Given the description of an element on the screen output the (x, y) to click on. 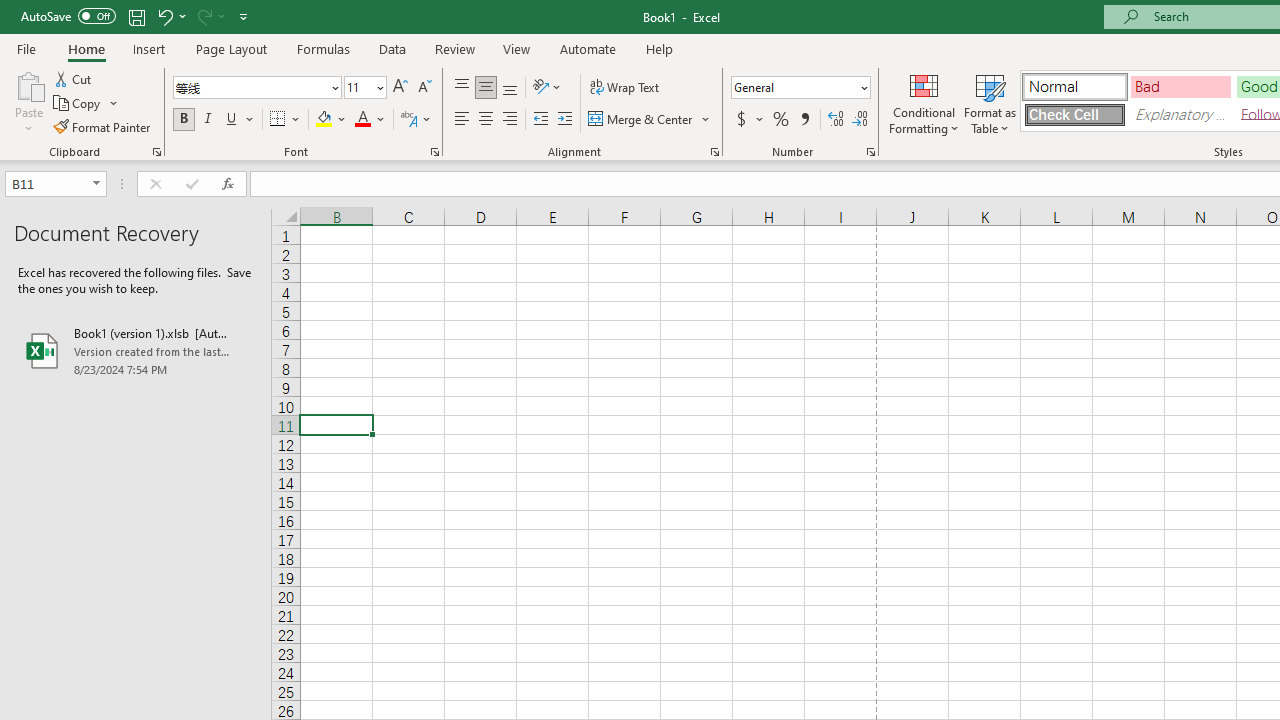
Explanatory Text (1180, 114)
Increase Font Size (399, 87)
Cut (73, 78)
Underline (239, 119)
Font (250, 87)
Wrap Text (624, 87)
Paste (28, 102)
Check Cell (1074, 114)
